Given the description of an element on the screen output the (x, y) to click on. 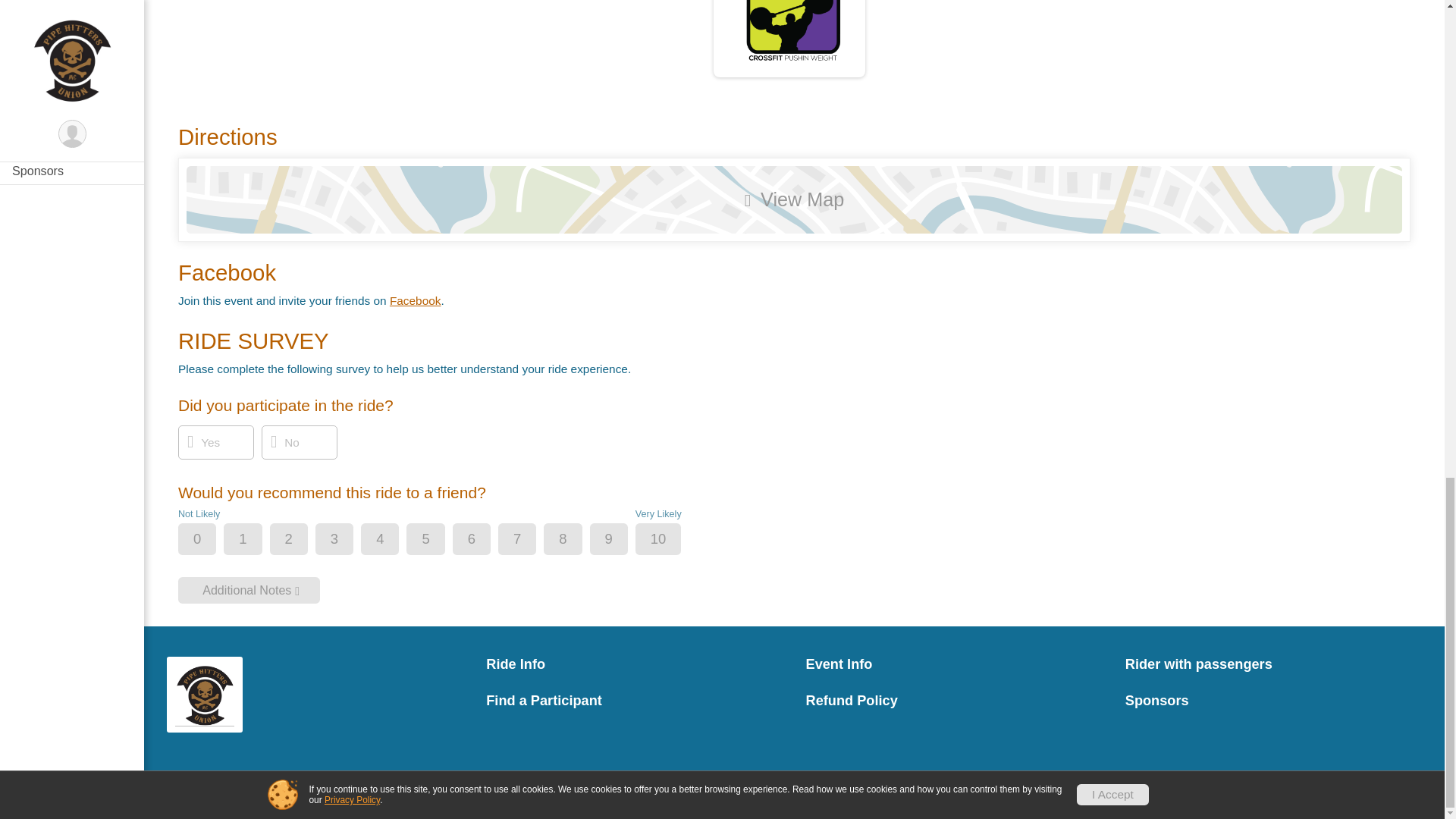
Additional Notes (248, 590)
10 (671, 540)
8 (575, 540)
Event Info (953, 664)
9 (621, 540)
4 (391, 540)
Refund Policy (953, 700)
2 (301, 540)
5 (437, 540)
6 (483, 540)
View Map (794, 199)
Ride Info (634, 664)
Find a Participant (634, 700)
1 (255, 540)
0 (209, 540)
